Given the description of an element on the screen output the (x, y) to click on. 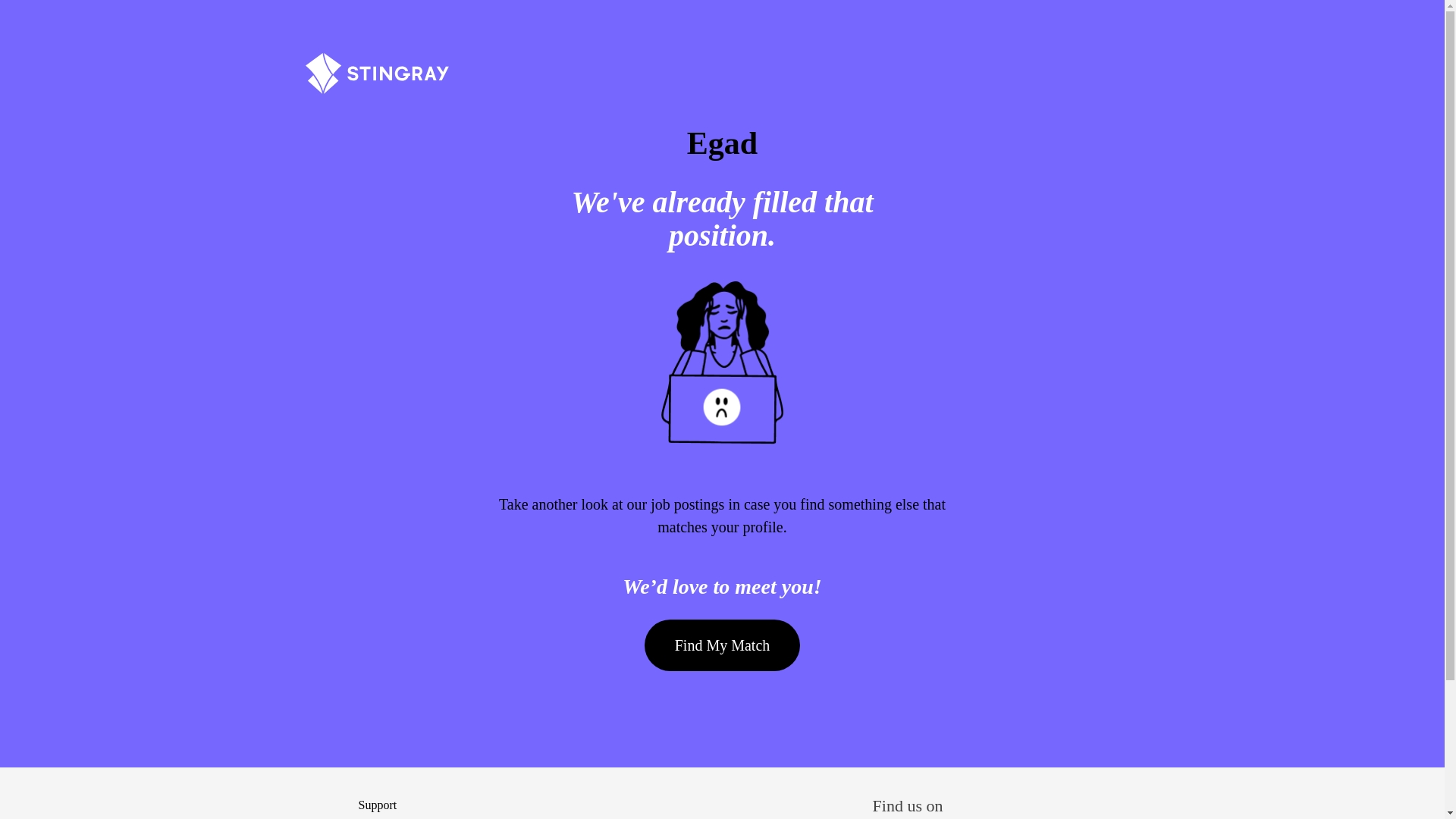
Support (377, 804)
icon-facebook (992, 803)
Instagram (1107, 803)
Linkedin (1048, 803)
Jobs (376, 79)
Find My Match (722, 644)
